Given the description of an element on the screen output the (x, y) to click on. 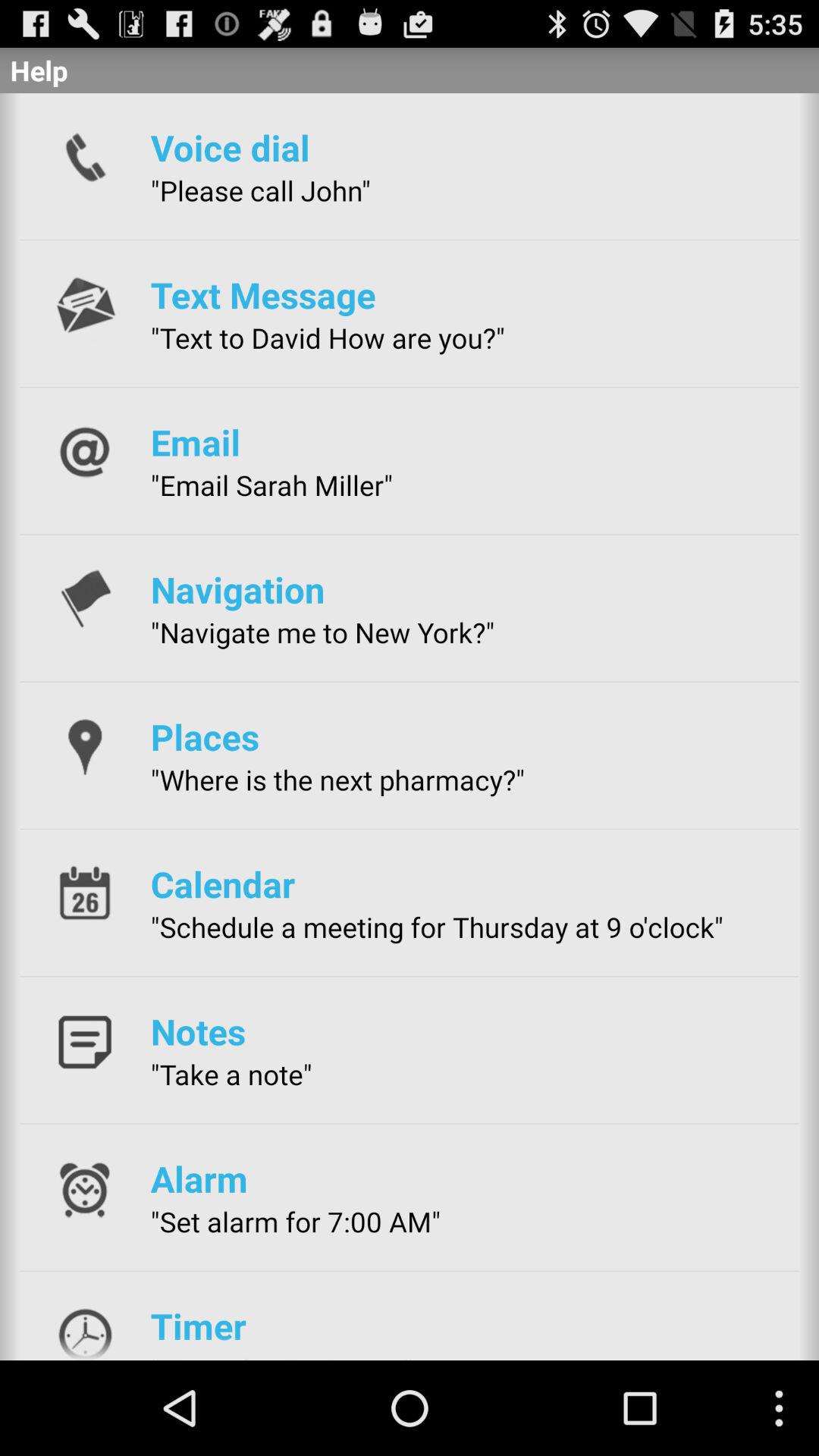
open app below the navigation item (322, 632)
